Given the description of an element on the screen output the (x, y) to click on. 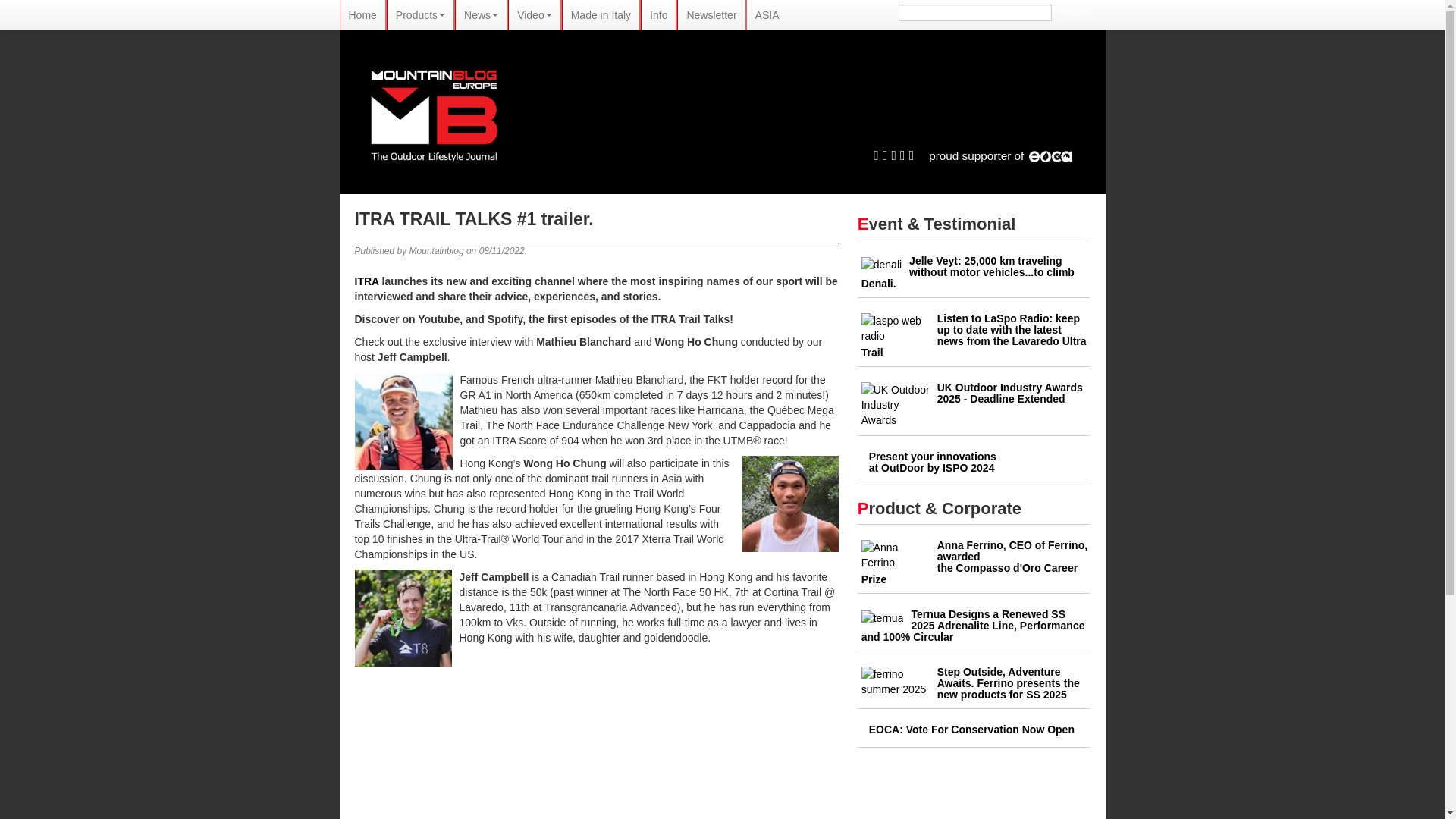
MountainBlog Europe (434, 112)
Search (1075, 12)
UK Outdoor Industry Awards 2025 - Deadline Extended (895, 404)
Made in Italy (600, 15)
YouTube video player (601, 758)
UK Outdoor Industry Awards 2025 - Deadline Extended (1010, 392)
News (480, 15)
EOCA (1001, 155)
